Given the description of an element on the screen output the (x, y) to click on. 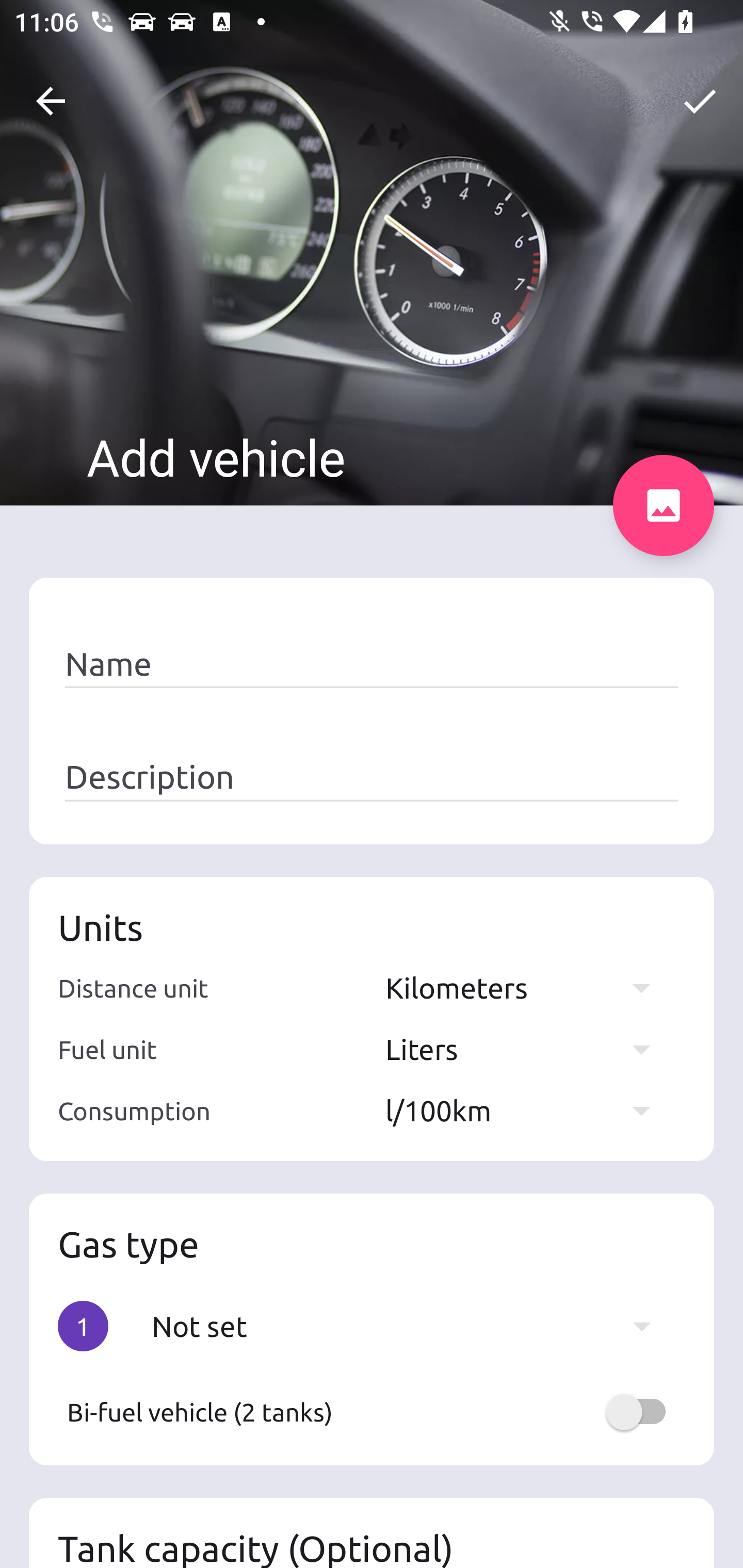
Navigate up (50, 101)
OK (699, 101)
Name (371, 664)
Description (371, 777)
Kilometers (527, 987)
Liters (527, 1048)
l/100km (527, 1110)
Not set (411, 1325)
Bi-fuel vehicle (2 tanks) (371, 1411)
